Given the description of an element on the screen output the (x, y) to click on. 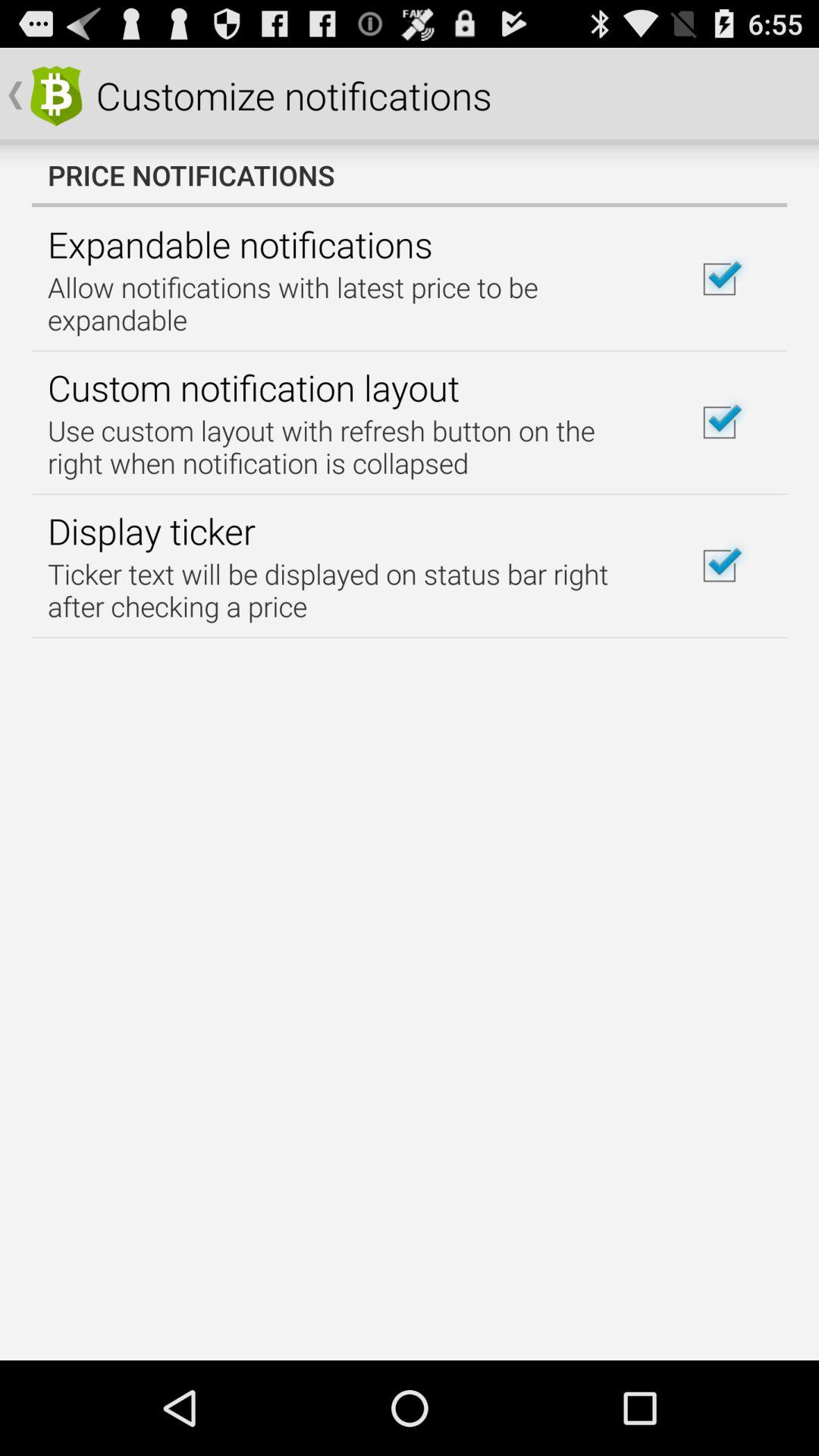
press allow notifications with (351, 303)
